Given the description of an element on the screen output the (x, y) to click on. 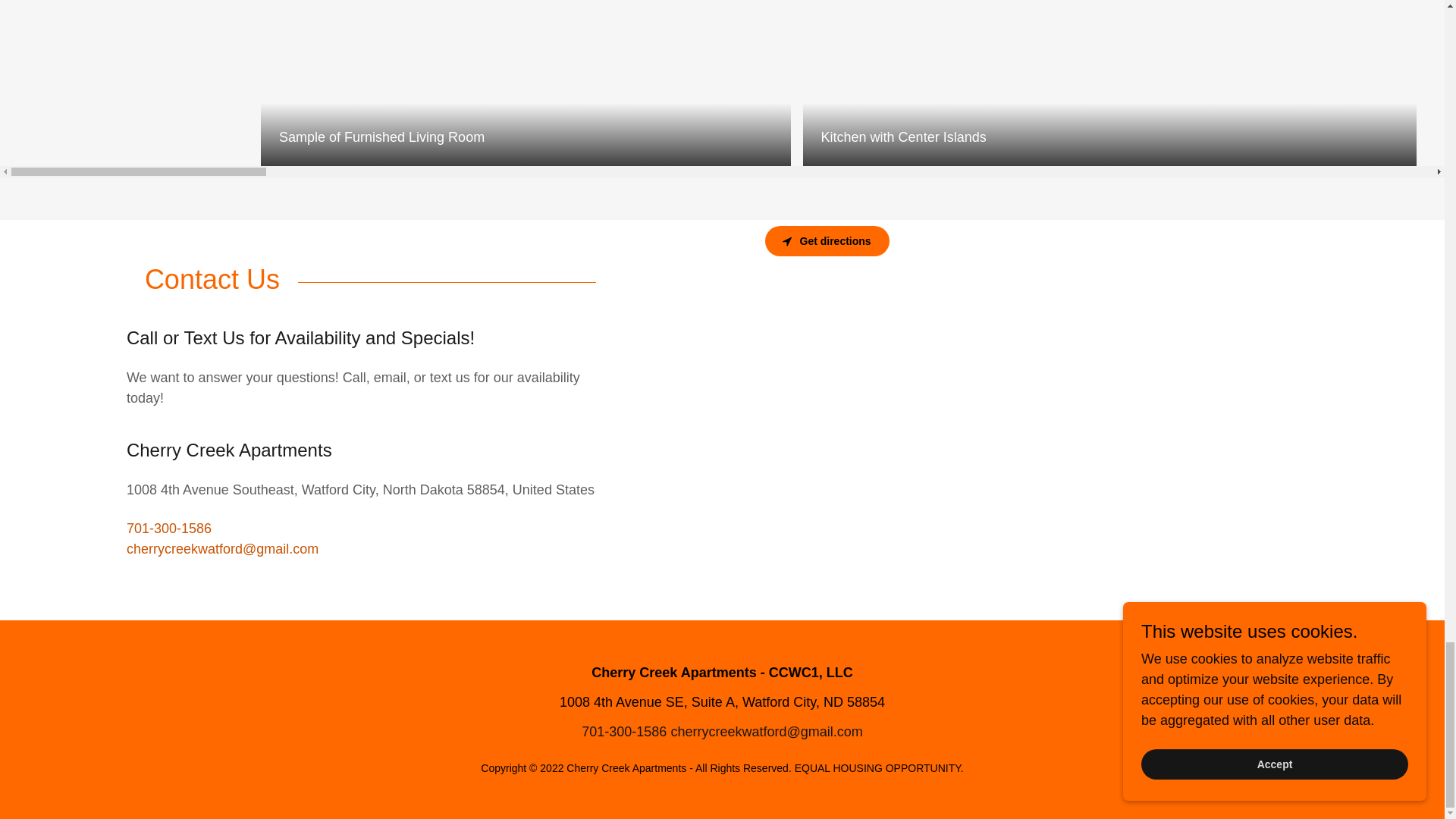
701-300-1586 (623, 731)
Get directions (826, 241)
701-300-1586 (168, 528)
